Given the description of an element on the screen output the (x, y) to click on. 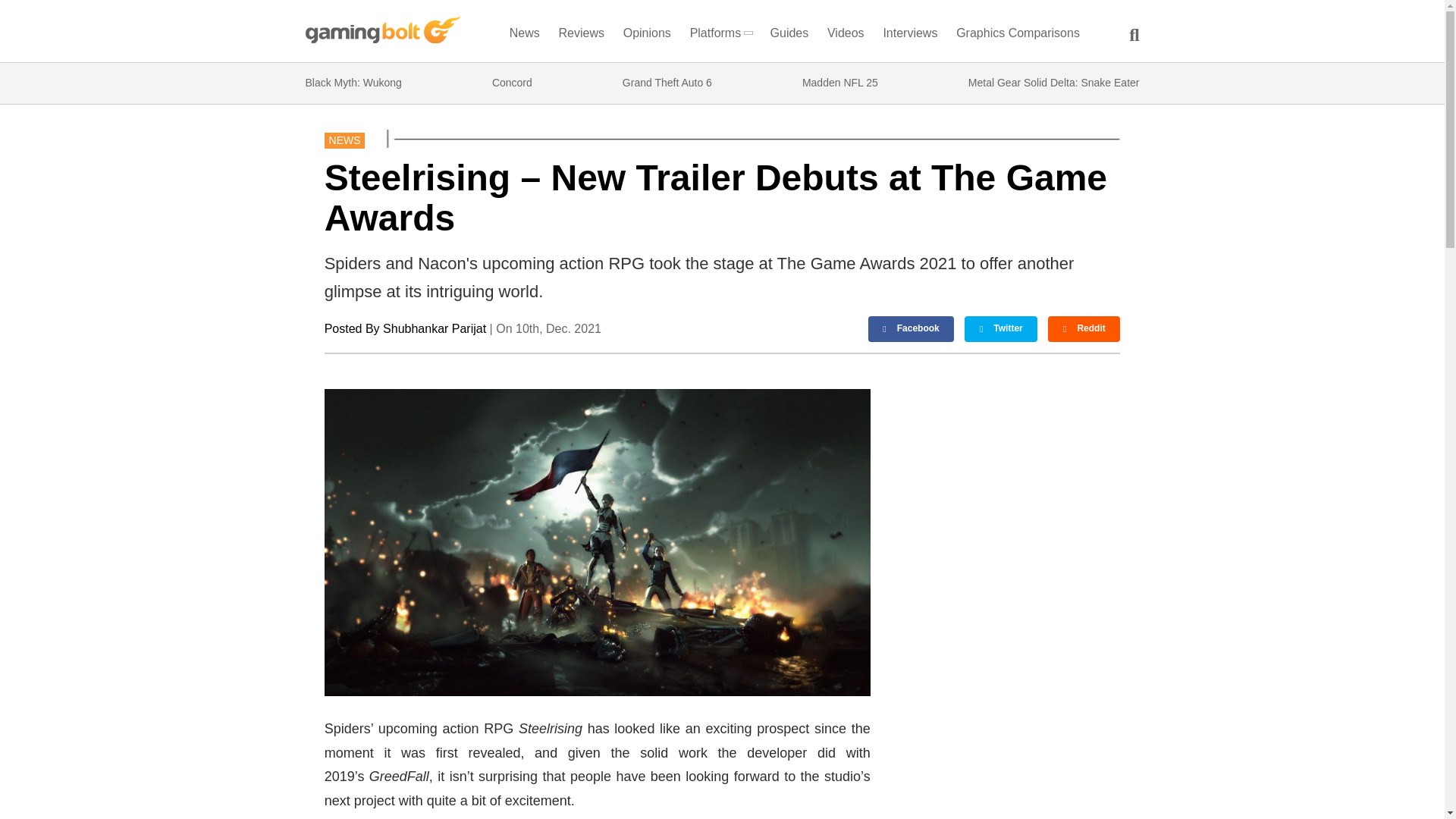
News (524, 36)
Opinions (647, 36)
Graphics Comparisons (1017, 36)
Interviews (909, 36)
Black Myth: Wukong (352, 82)
Reviews (581, 36)
Madden NFL 25 (839, 82)
Platforms (720, 36)
Concord (512, 82)
NEWS (345, 140)
